Given the description of an element on the screen output the (x, y) to click on. 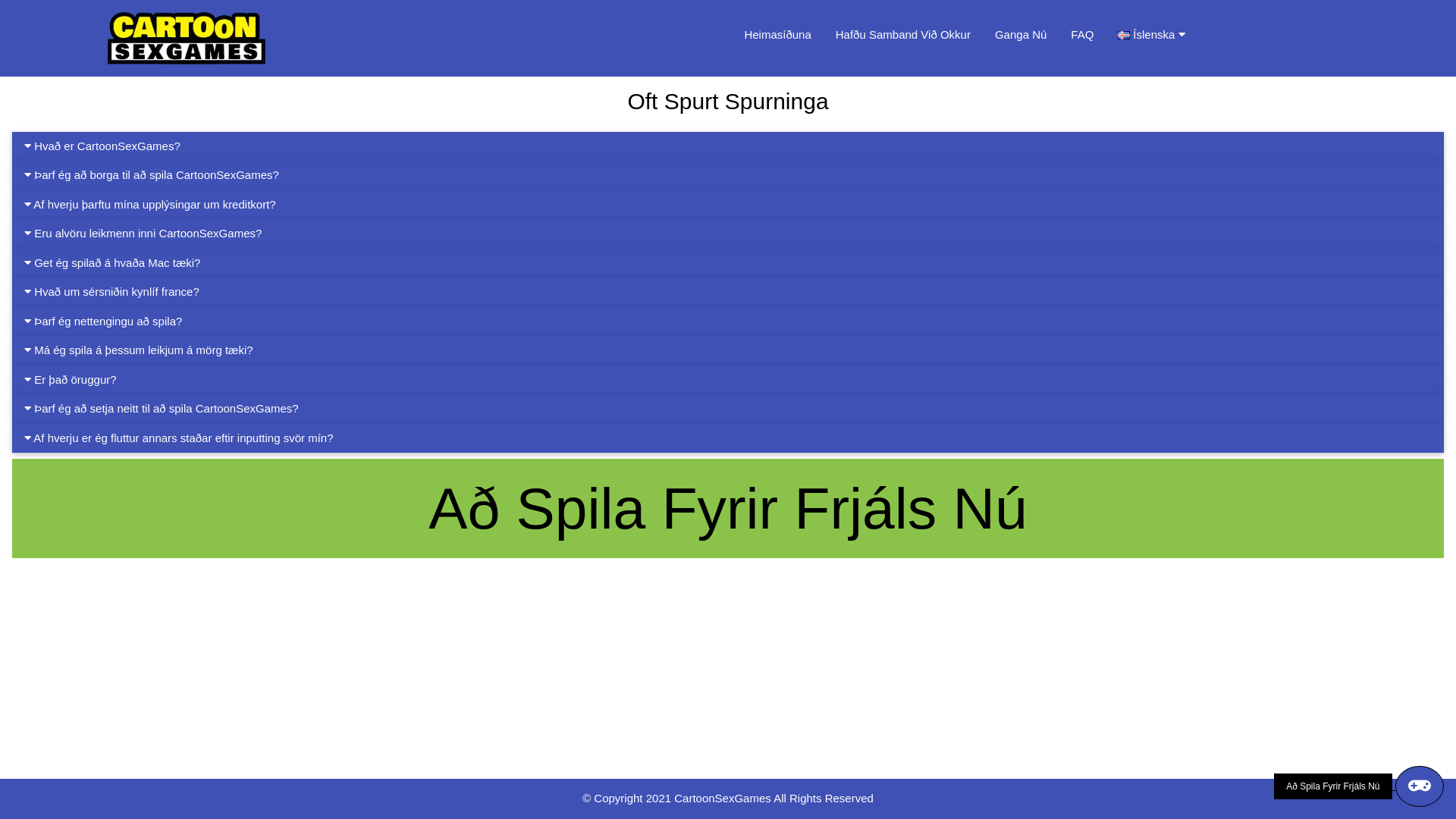
FAQ Element type: text (1081, 35)
